Given the description of an element on the screen output the (x, y) to click on. 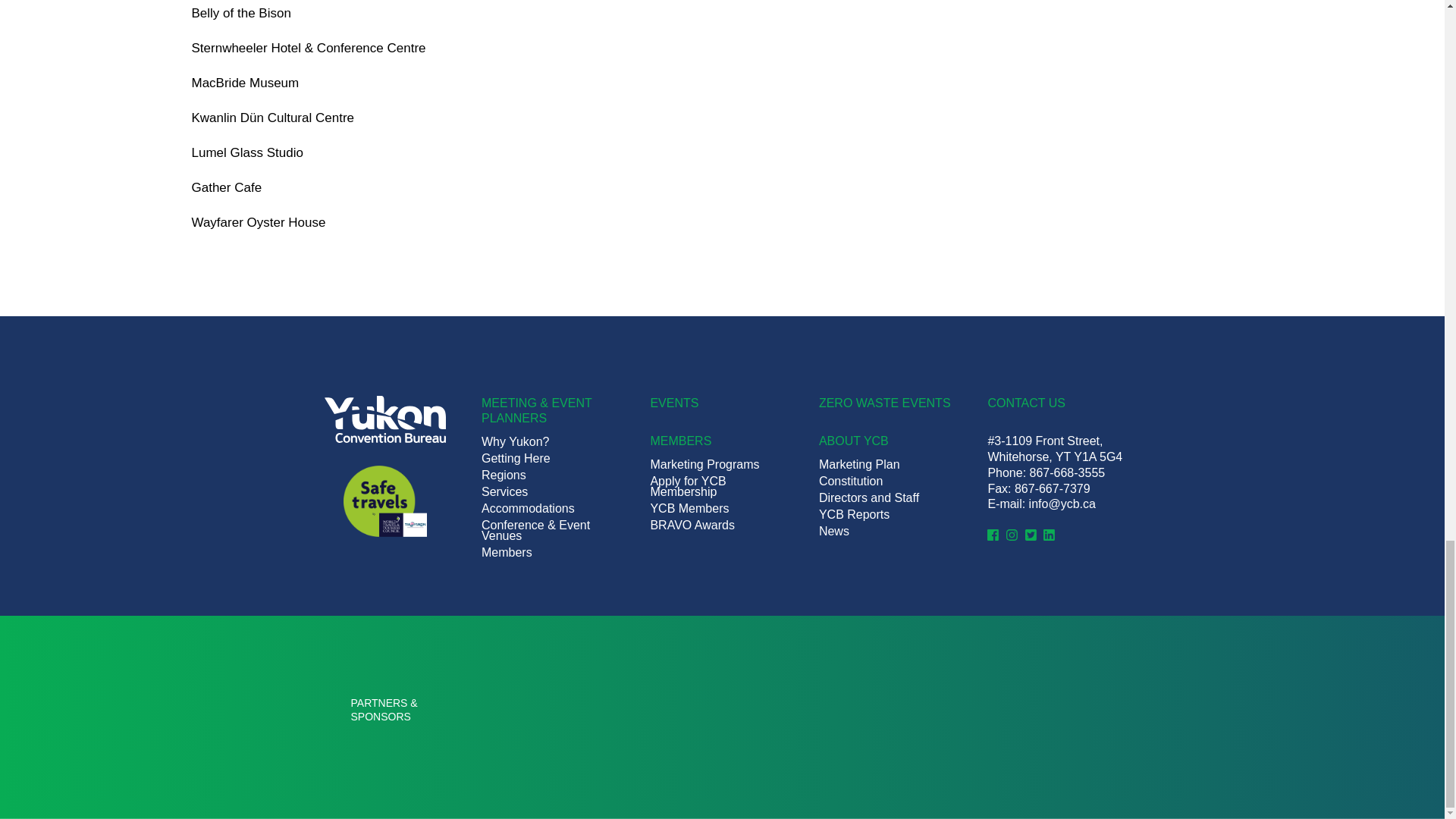
ycb-logo (384, 418)
WTTC-SafeTravels-Stamp (384, 500)
